Given the description of an element on the screen output the (x, y) to click on. 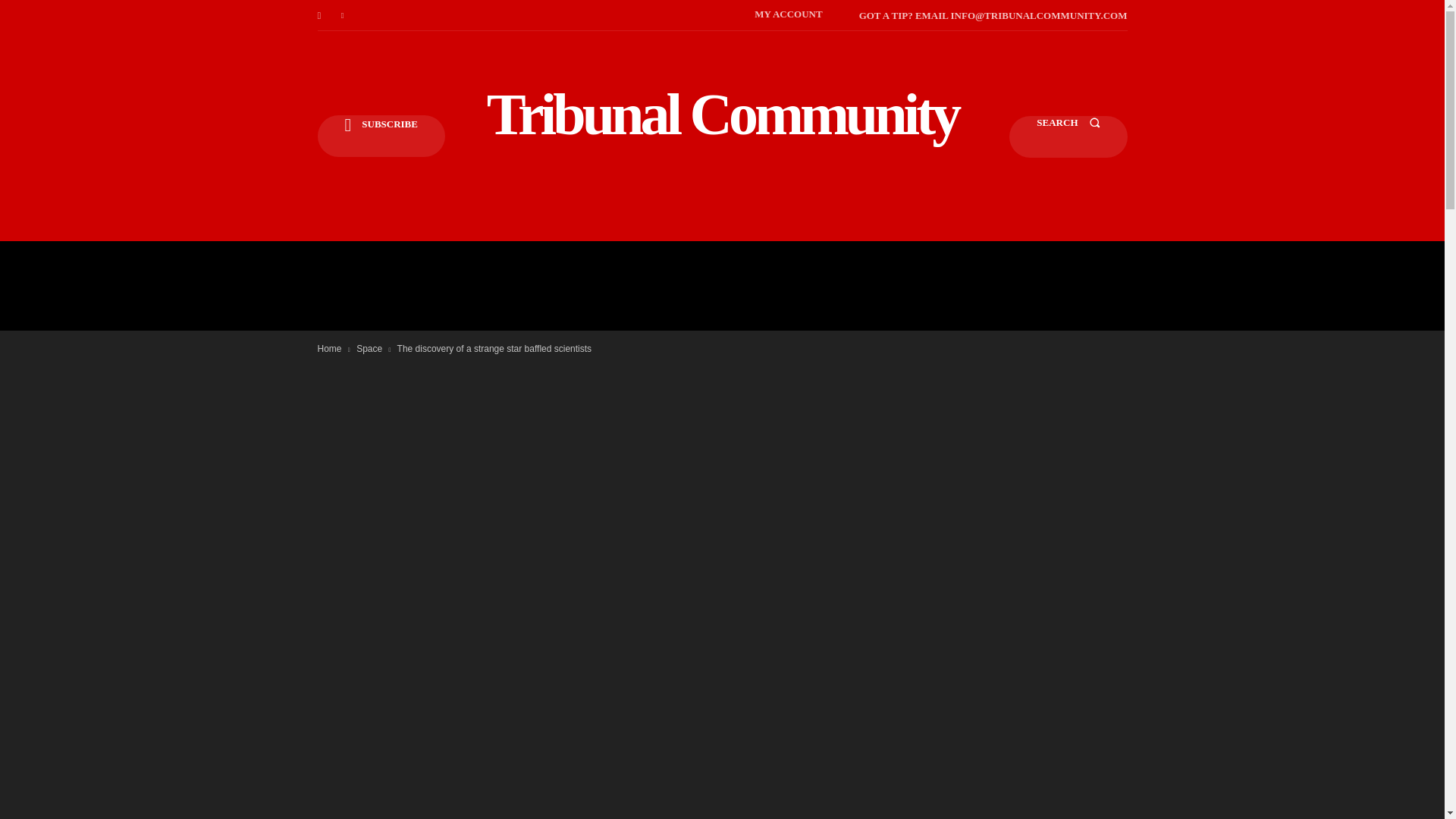
Tribunal Community (722, 113)
Facebook (318, 15)
View all posts in Space (368, 348)
SUBSCRIBE (380, 136)
Twitter (342, 15)
